Given the description of an element on the screen output the (x, y) to click on. 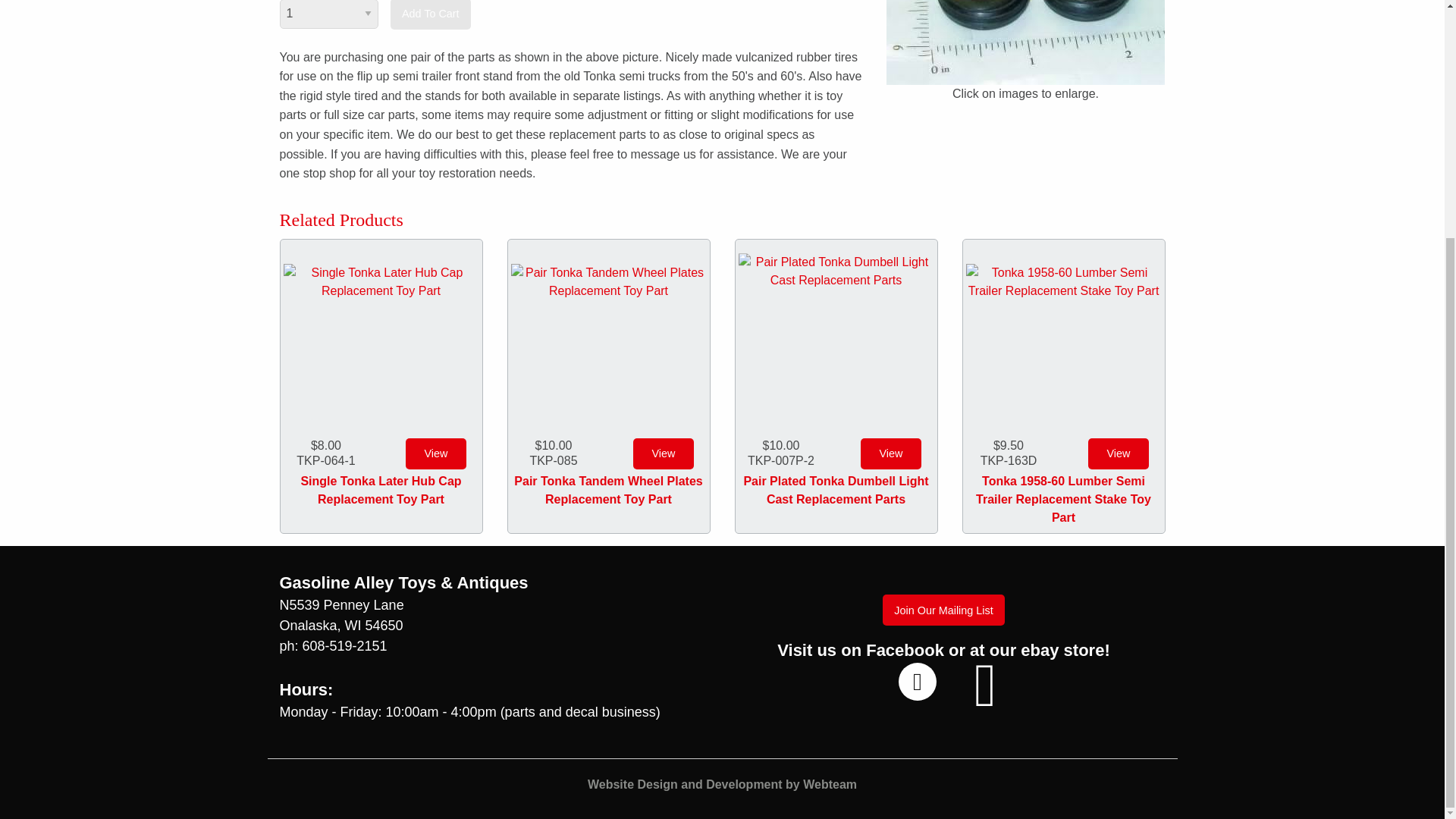
Add To Cart (430, 14)
Follow us on Facebook (917, 681)
Join Our Mailing List (943, 609)
View (663, 453)
Follow us on Facebook (917, 681)
Pair Tonka Tandem Wheel Plates Replacement Toy Part (608, 337)
Pair Tonka Tandem Wheel Plates Replacement Toy Part (608, 490)
Pair Plated Tonka Dumbell Light Cast Replacement Parts (836, 490)
Tonka 1958-60 Lumber Semi Trailer Replacement Stake Toy Part (1063, 337)
